Given the description of an element on the screen output the (x, y) to click on. 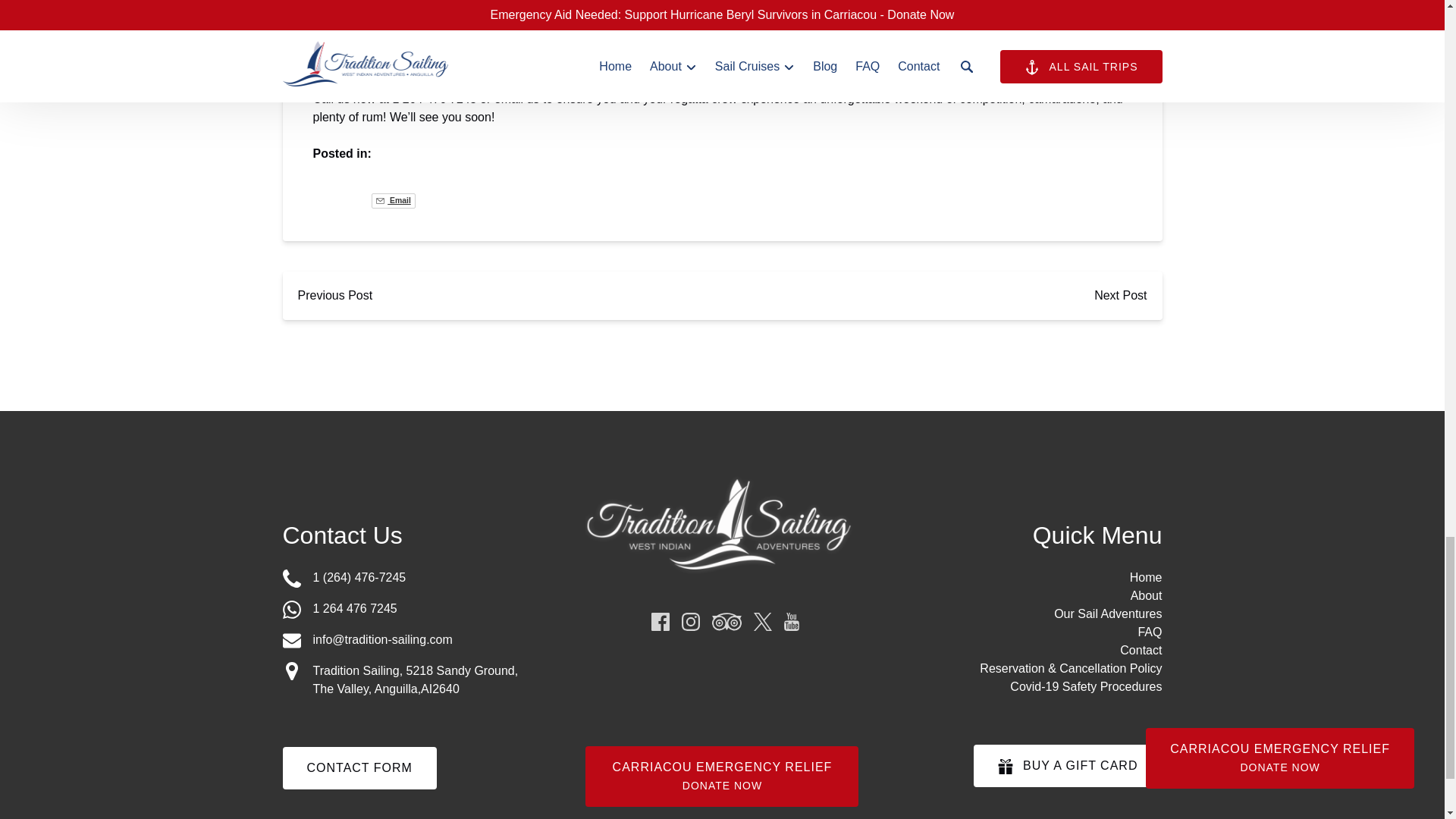
Next Post (1119, 295)
GIFT (1005, 766)
CONTACT FORM (358, 755)
Email (392, 200)
Tradition Sailing, 5218 Sandy Ground, (415, 670)
Map Marker (290, 670)
The Valley, Anguilla,AI2640 (385, 688)
Previous Post (334, 295)
Phone (290, 578)
1 264 476 7245 (418, 609)
Envelope (290, 640)
